Given the description of an element on the screen output the (x, y) to click on. 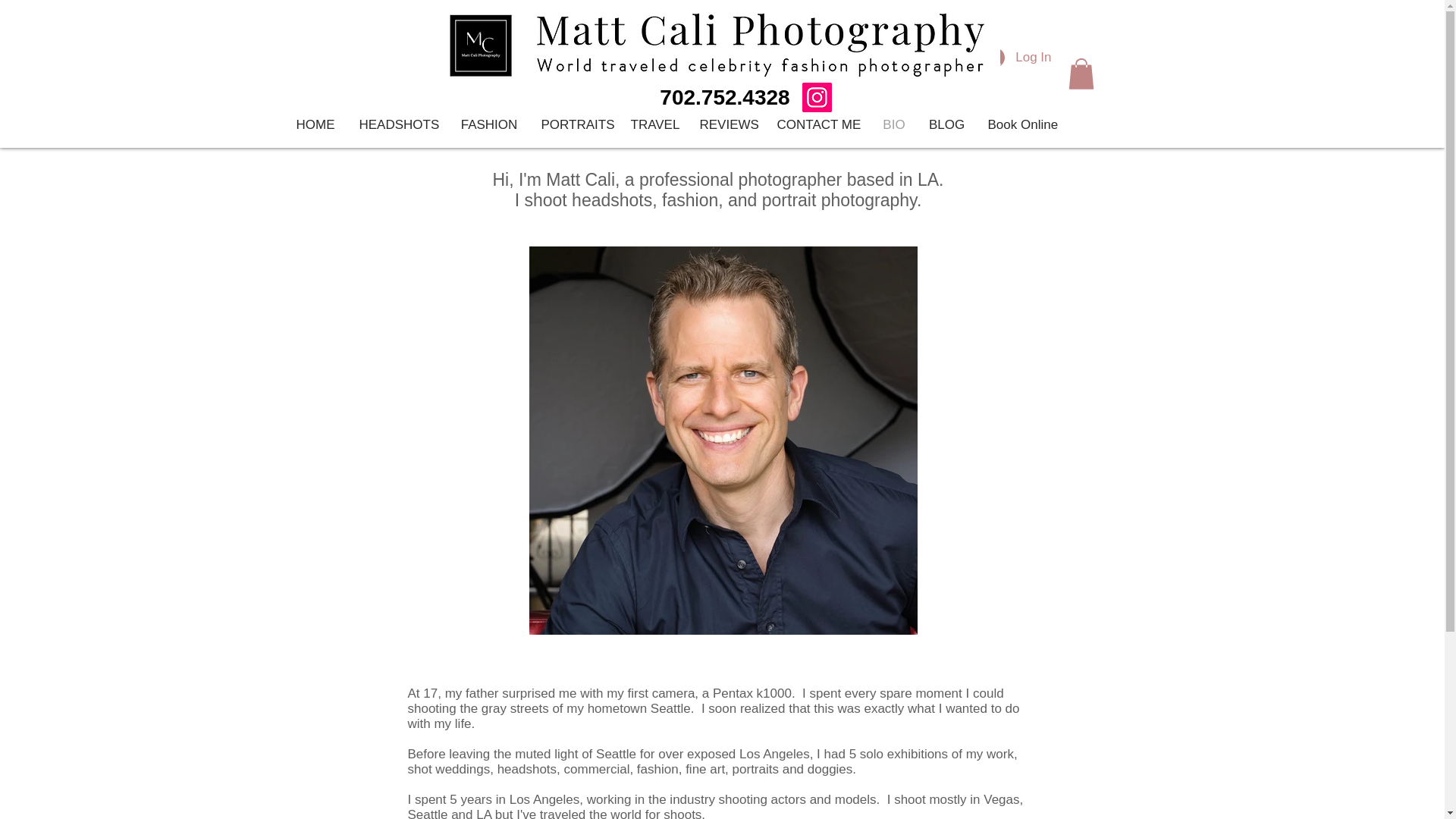
CONTACT ME (817, 125)
FASHION (488, 125)
PORTRAITS (573, 125)
REVIEWS (726, 125)
HOME (315, 125)
HEADSHOTS (397, 125)
TRAVEL (652, 125)
BIO (893, 125)
BLOG (946, 125)
Log In (1017, 57)
